Given the description of an element on the screen output the (x, y) to click on. 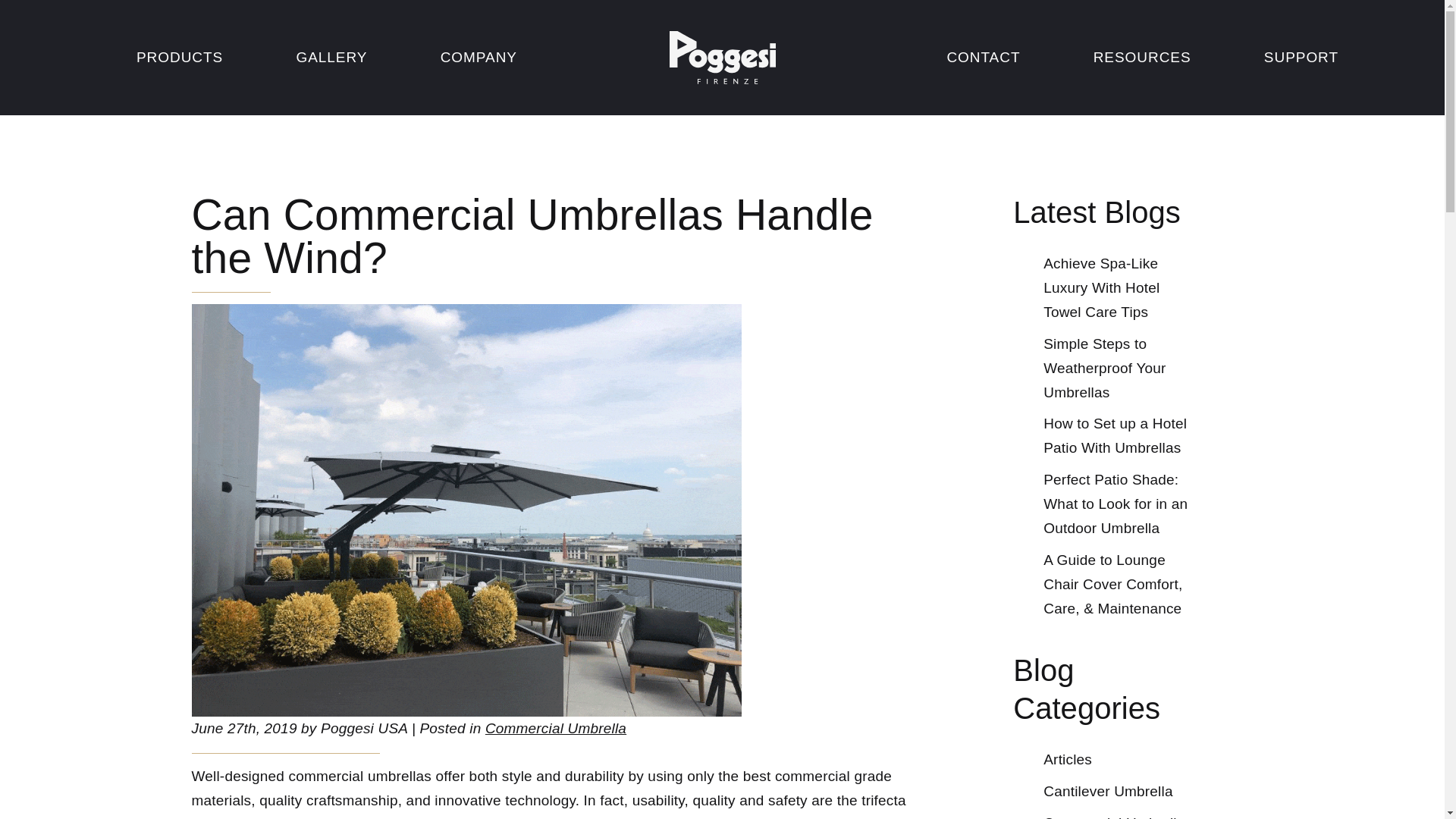
patio umbrellas (422, 817)
Simple Steps to Weatherproof Your Umbrellas (1104, 368)
Articles (1067, 759)
Perfect Patio Shade: What to Look for in an Outdoor Umbrella (1115, 504)
Cantilever Umbrella (1107, 791)
Commercial Umbrella (555, 728)
Achieve Spa-Like Luxury With Hotel Towel Care Tips (1100, 288)
How to Set up a Hotel Patio With Umbrellas (1114, 435)
Commercial Umbrella (1114, 816)
